Given the description of an element on the screen output the (x, y) to click on. 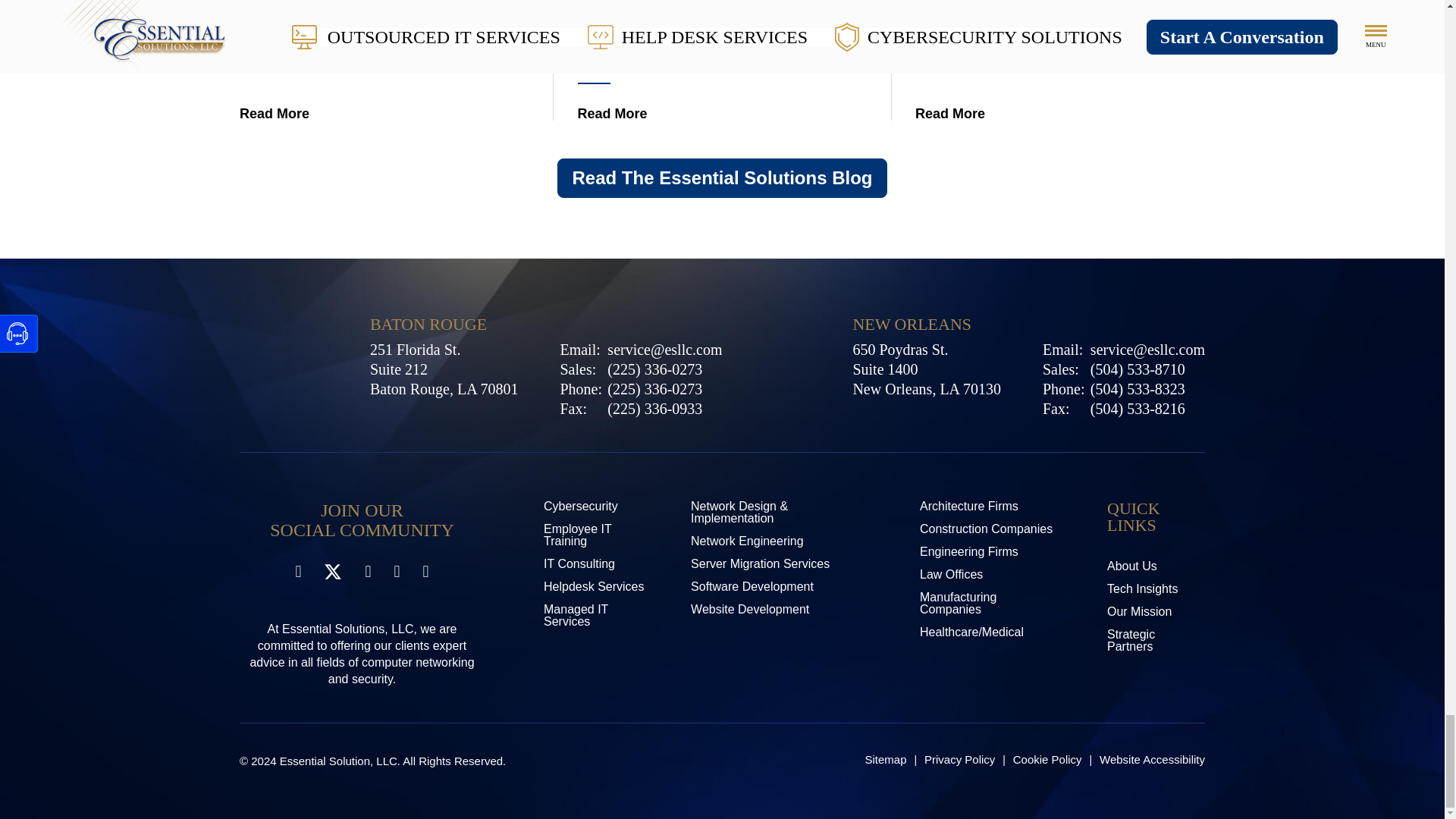
US Government Bans Sale Of Kaspersky Software (384, 105)
